Given the description of an element on the screen output the (x, y) to click on. 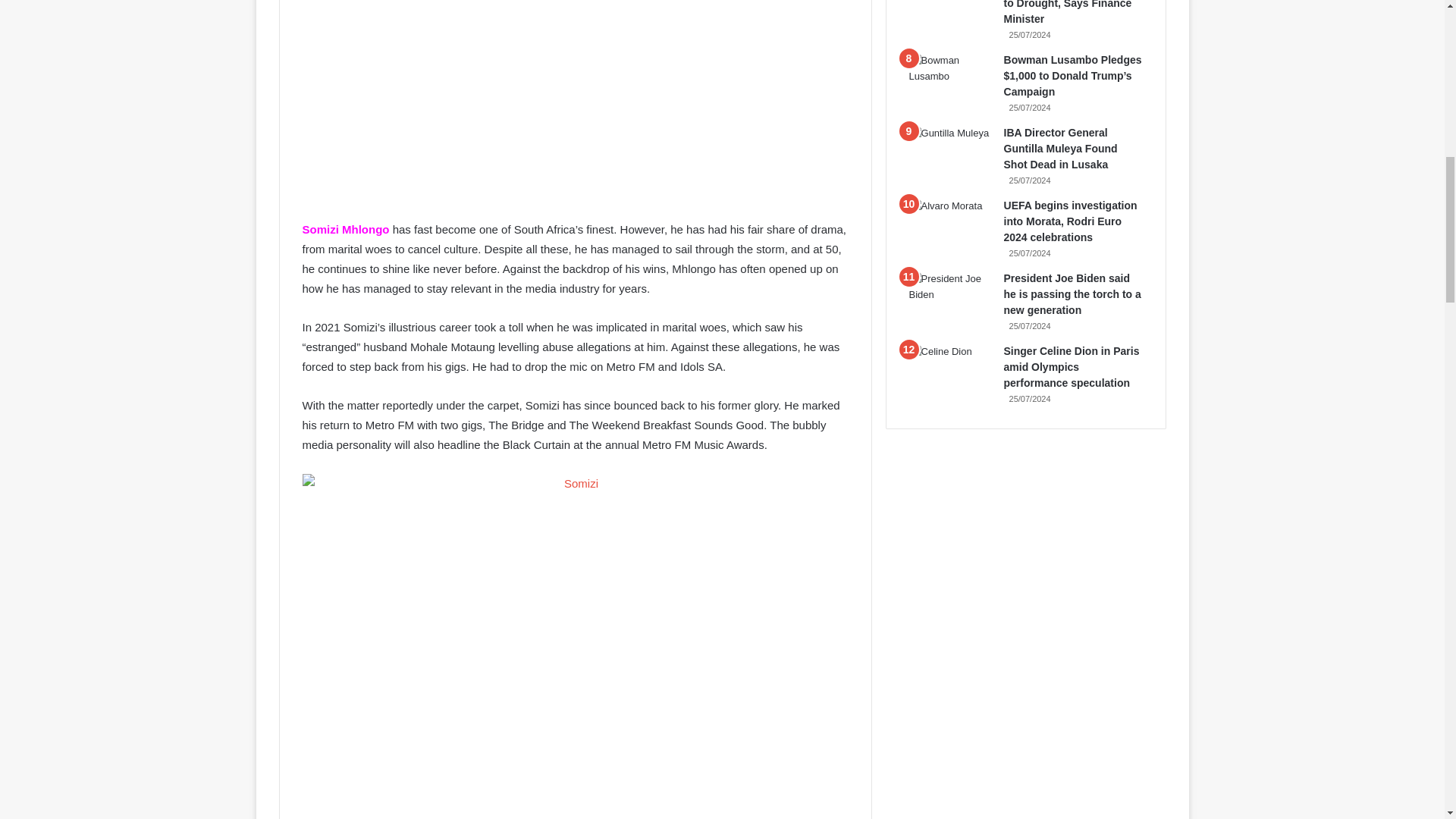
Somizi Mhlongo (344, 228)
